Given the description of an element on the screen output the (x, y) to click on. 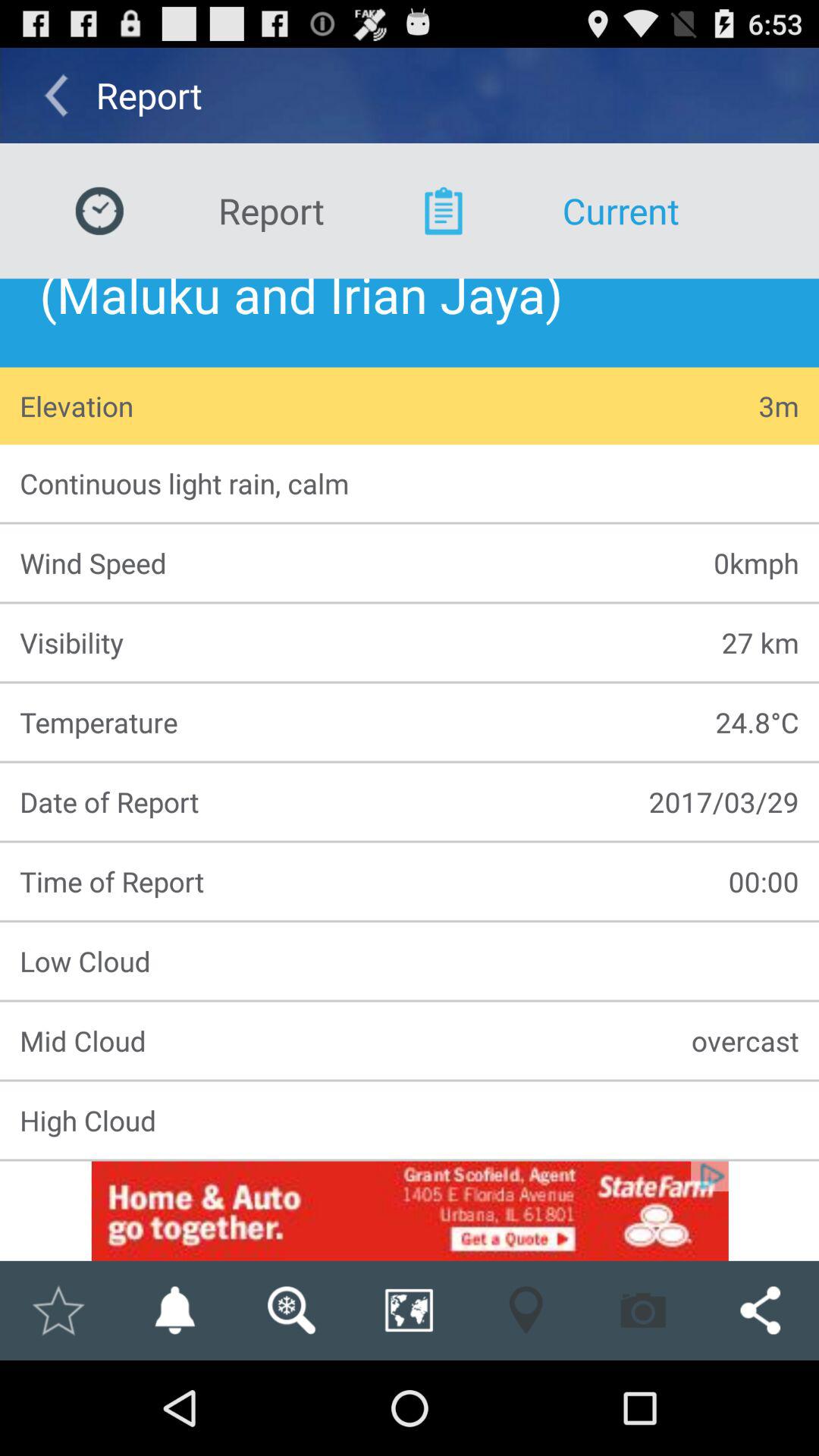
take a screenshot (642, 1310)
